Given the description of an element on the screen output the (x, y) to click on. 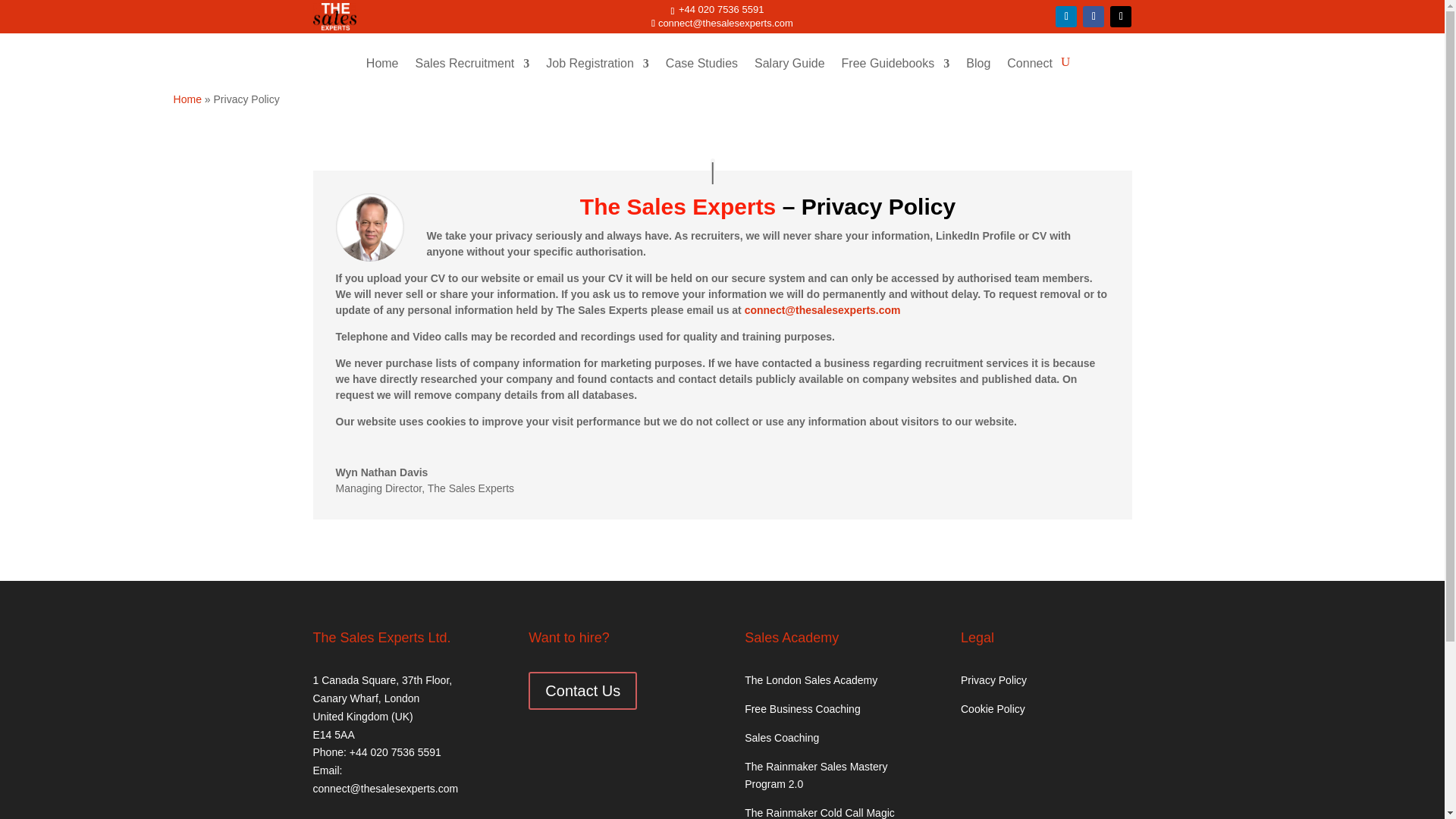
The Rainmaker Cold Call Magic Program (819, 812)
Job Registration (597, 74)
Follow on LinkedIn (1066, 16)
Free Guidebooks (895, 74)
Home (382, 74)
logo-transparent-small (334, 16)
Cookie Policy (992, 708)
Follow on Facebook (1093, 16)
Case Studies (701, 74)
Sales Recruitment Agency Website (382, 74)
